Given the description of an element on the screen output the (x, y) to click on. 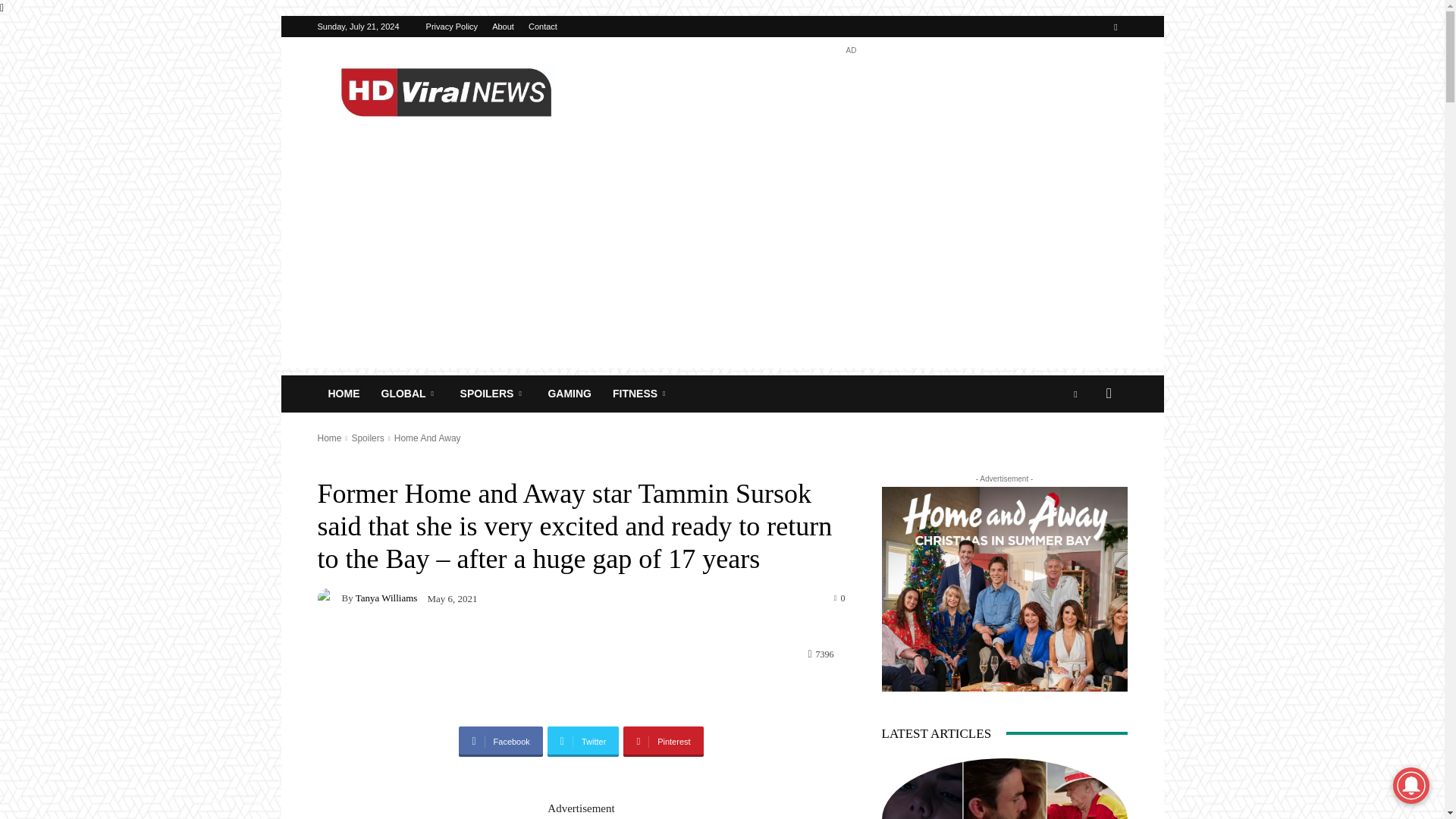
SPOILERS (493, 393)
Privacy Policy (451, 26)
HOME (343, 393)
GLOBAL (408, 393)
About (502, 26)
Facebook (1114, 25)
Contact (542, 26)
Advertisement (850, 92)
